Given the description of an element on the screen output the (x, y) to click on. 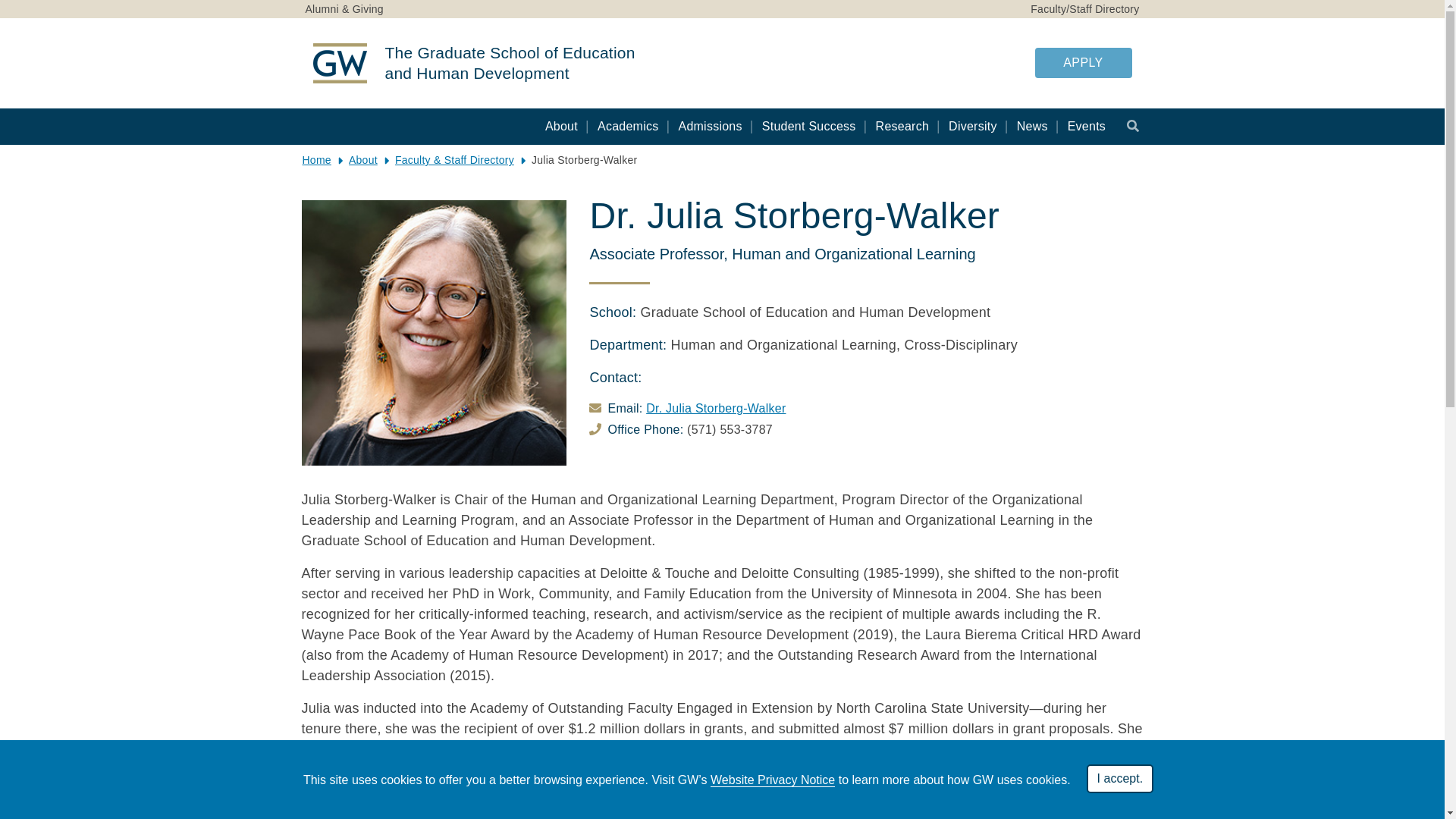
Student Success (808, 126)
The Graduate School of Education and Human Development (512, 63)
APPLY (1082, 61)
About (560, 126)
Academics (628, 126)
APPLY (1082, 62)
Search (1132, 125)
Admissions (709, 126)
Search (1132, 125)
